Given the description of an element on the screen output the (x, y) to click on. 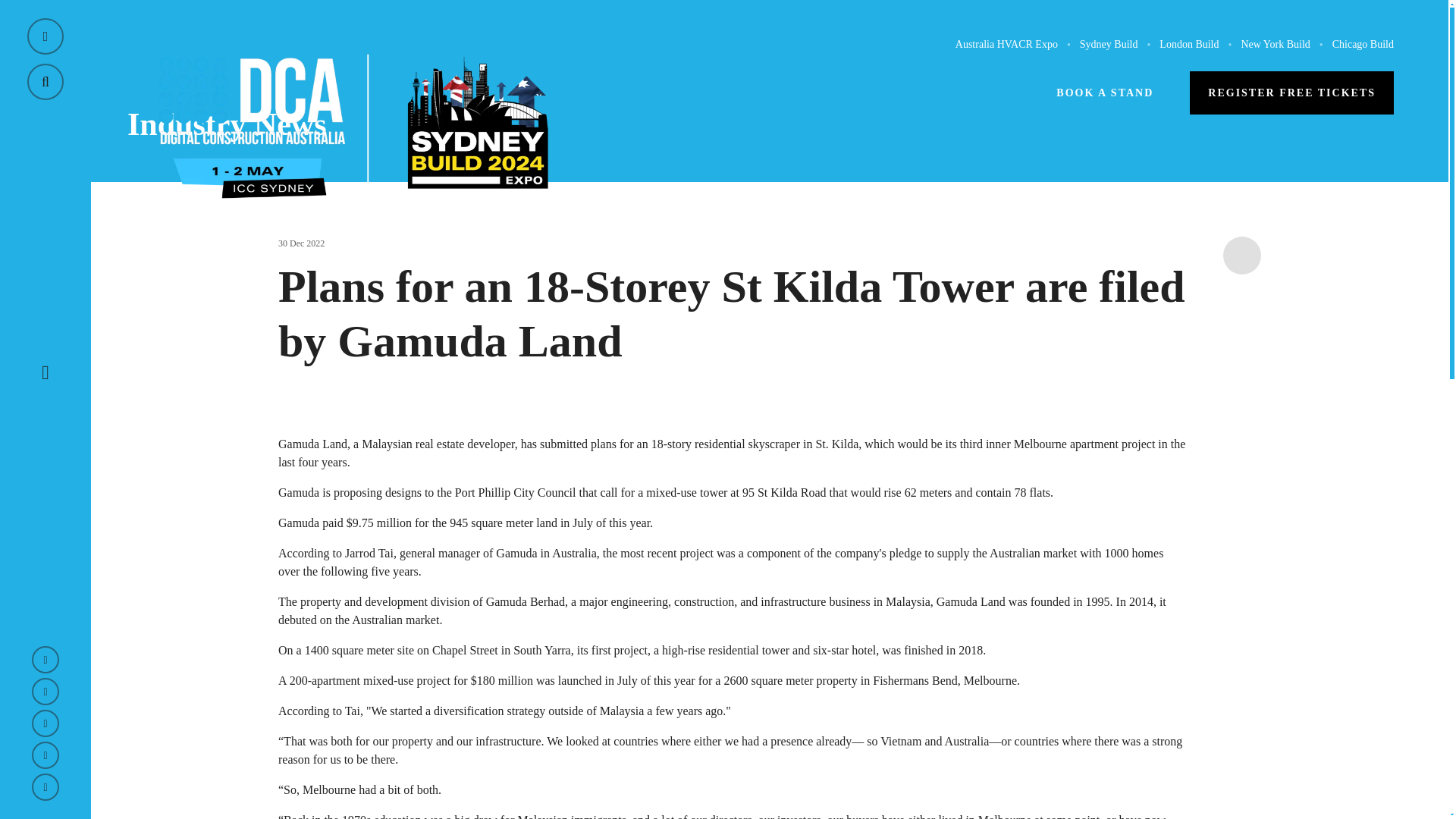
YouTube (45, 786)
Twitter (45, 691)
LinkedIn (45, 659)
Facebook (45, 723)
Instagram (45, 755)
